Given the description of an element on the screen output the (x, y) to click on. 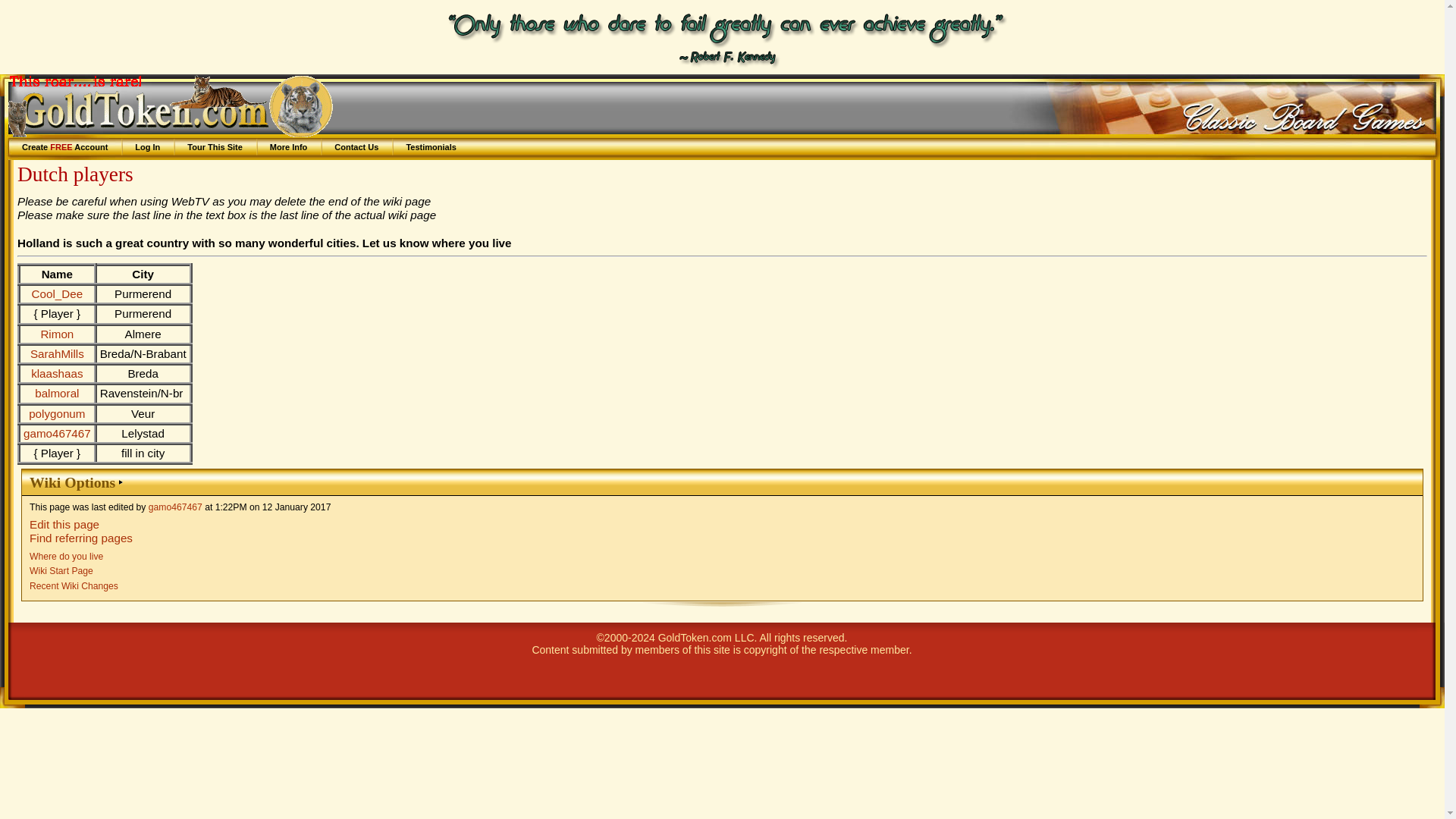
Find referring pages (80, 537)
Wiki Start Page (61, 570)
Rimon (57, 333)
Create FREE Account (64, 146)
gamo467467 (56, 432)
Where do you live (66, 556)
polygonum (56, 413)
Log In (147, 146)
gamo467467 (175, 507)
More Info (288, 146)
The more you play, the better you will get! (722, 67)
SarahMills (57, 353)
Recent Wiki Changes (73, 585)
Testimonials (430, 146)
